Given the description of an element on the screen output the (x, y) to click on. 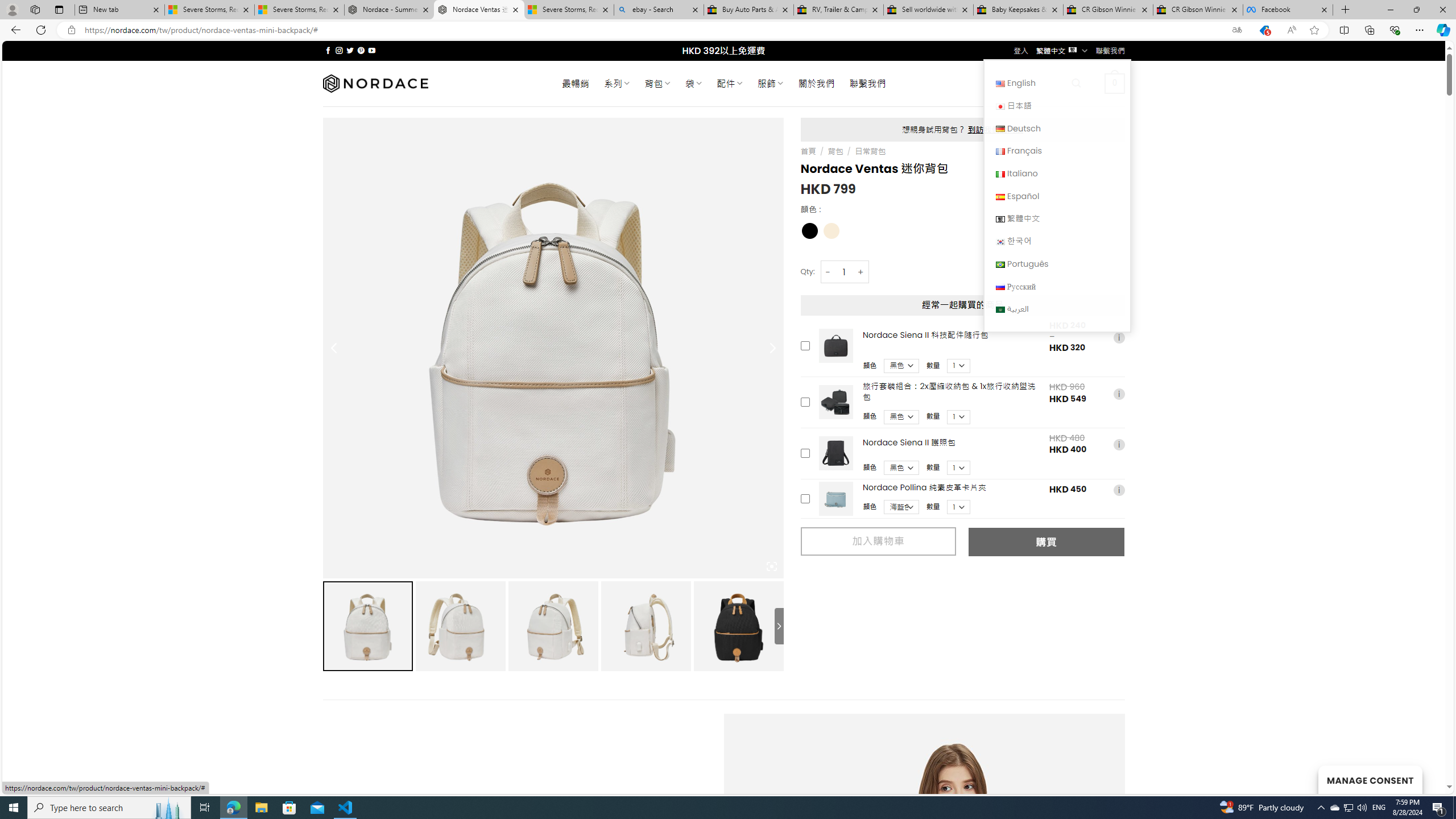
Italiano (999, 173)
Follow on Instagram (338, 50)
